Given the description of an element on the screen output the (x, y) to click on. 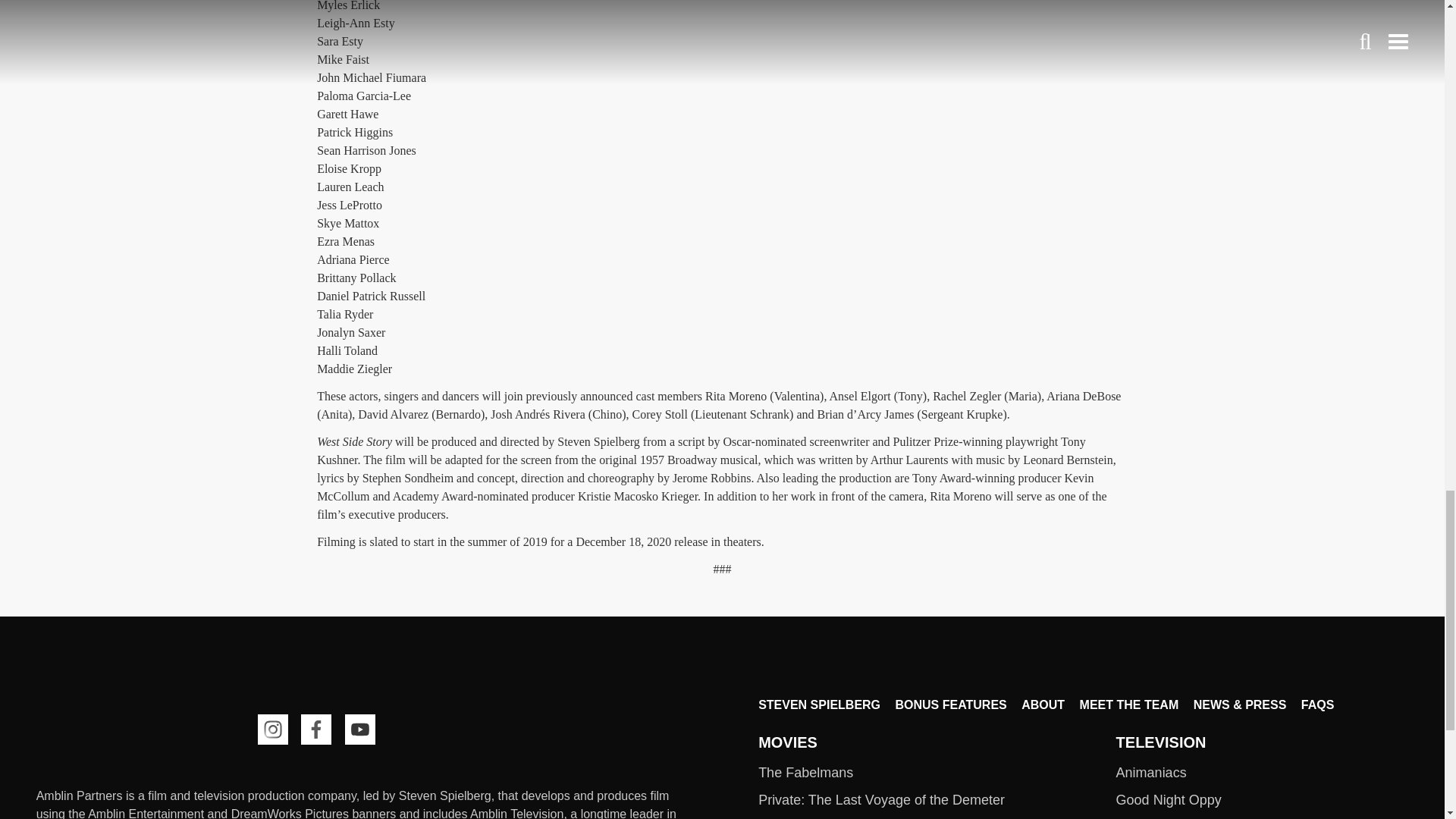
MEET THE TEAM (1129, 705)
FAQS (1318, 705)
Amblin Entertainment (111, 731)
The Fabelmans (805, 772)
STEVEN SPIELBERG (819, 705)
ABOUT (1043, 705)
BONUS FEATURES (950, 705)
